Given the description of an element on the screen output the (x, y) to click on. 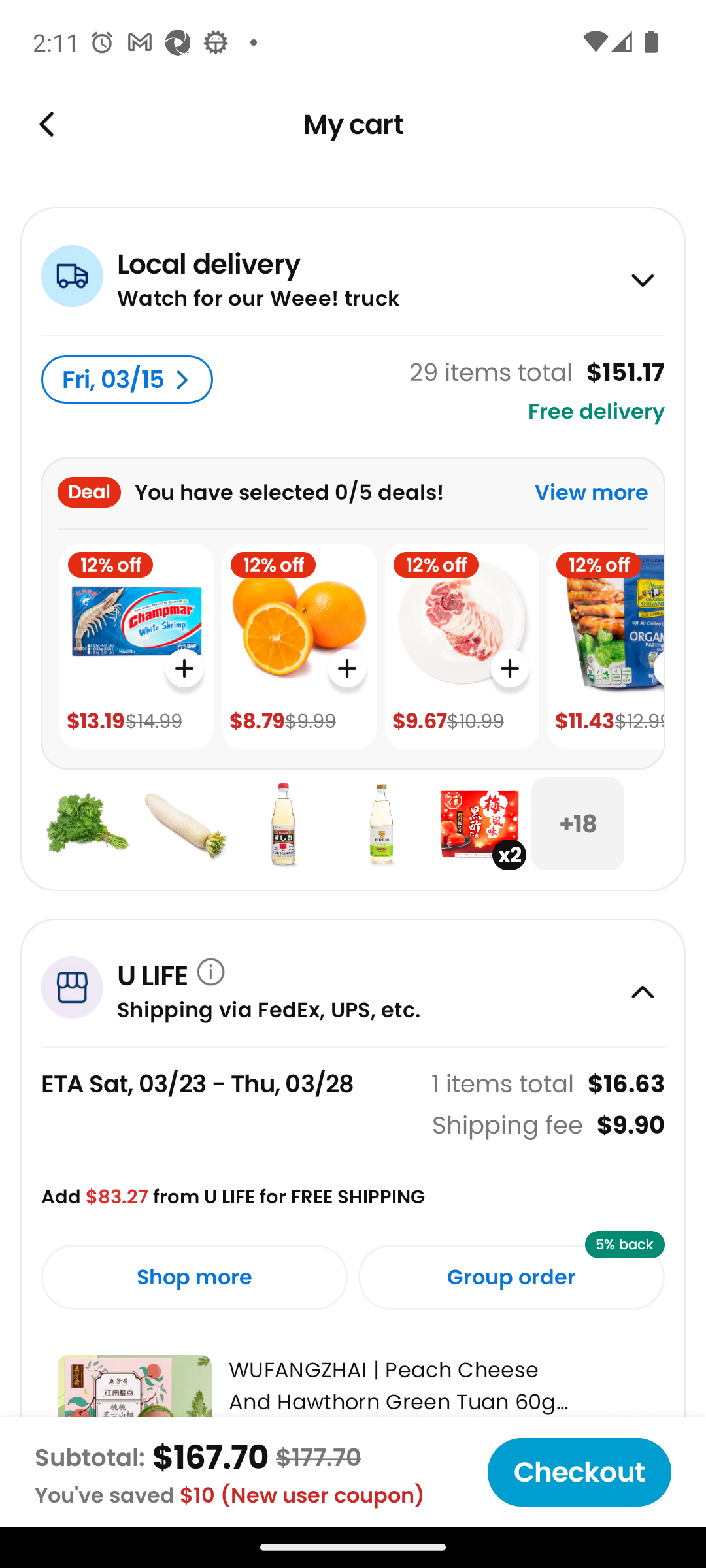
Local delivery Watch for our Weee! truck (352, 269)
Fri, 03/15 (126, 379)
12% off $13.19 $14.99 (136, 646)
12% off $8.79 $9.99 (299, 646)
12% off $9.67 $10.99 (461, 646)
12% off $11.43 $12.99 (605, 646)
x2 +18 (352, 823)
U LIFE Shipping via FedEx, UPS, etc. (352, 981)
Shop more (194, 1276)
Group order (511, 1276)
Checkout (579, 1471)
